Given the description of an element on the screen output the (x, y) to click on. 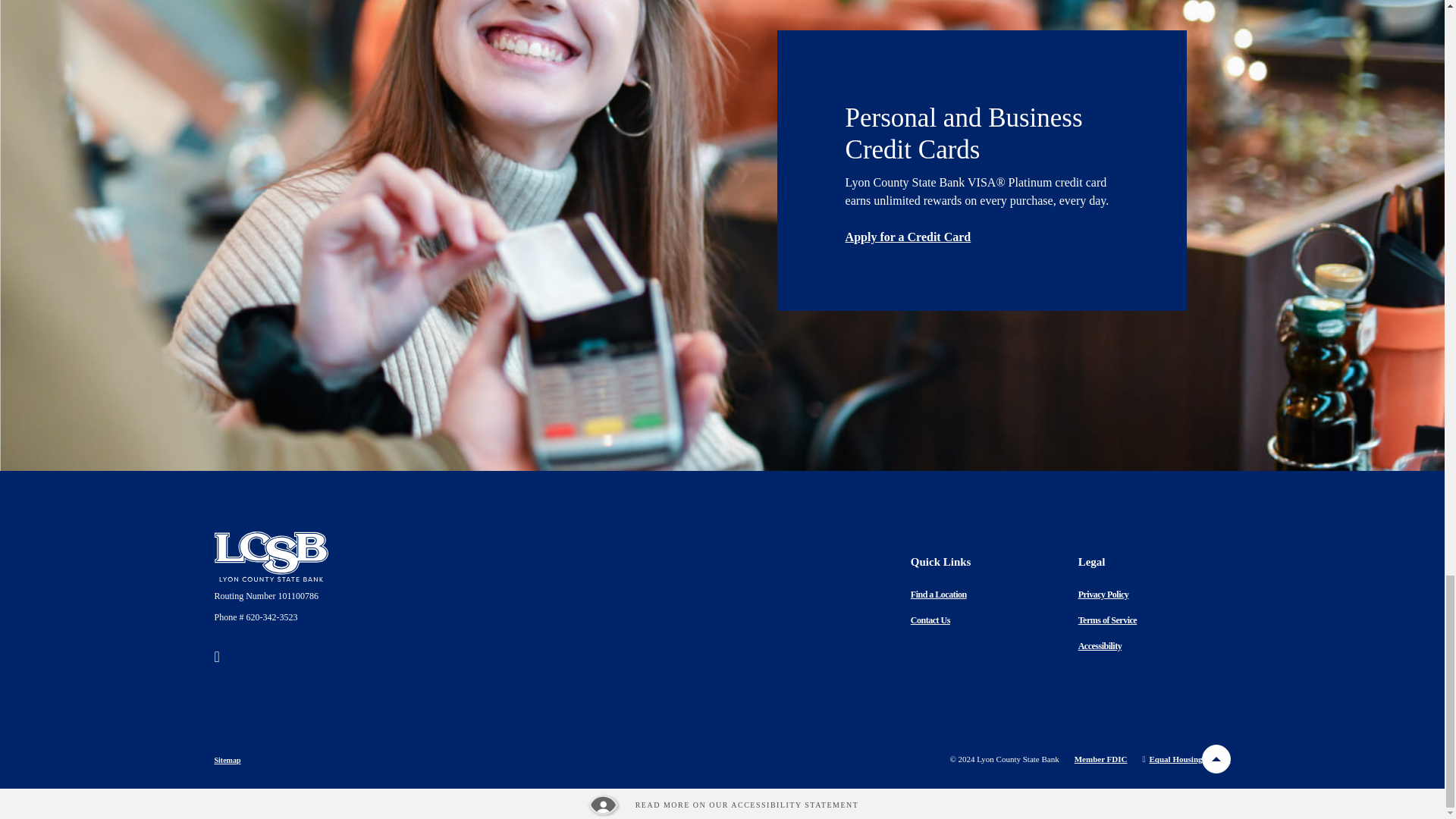
Lyon County State Bank, Emporia, KS (270, 556)
